Given the description of an element on the screen output the (x, y) to click on. 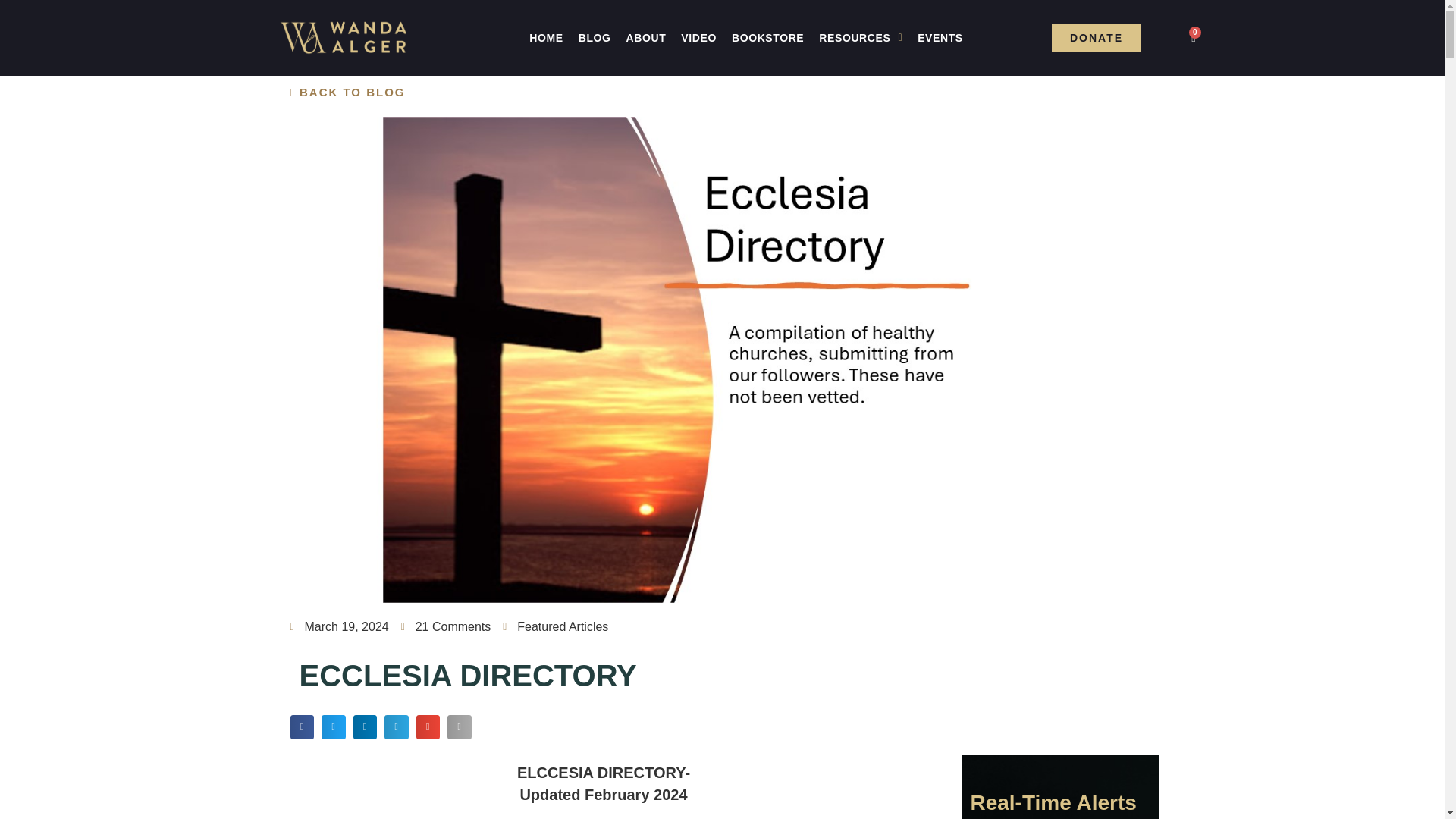
EVENTS (940, 37)
Featured Articles (562, 626)
RESOURCES (860, 37)
BACK TO BLOG (346, 92)
BLOG (594, 37)
21 Comments (446, 627)
BOOKSTORE (766, 37)
HOME (545, 37)
VIDEO (697, 37)
ABOUT (646, 37)
